Given the description of an element on the screen output the (x, y) to click on. 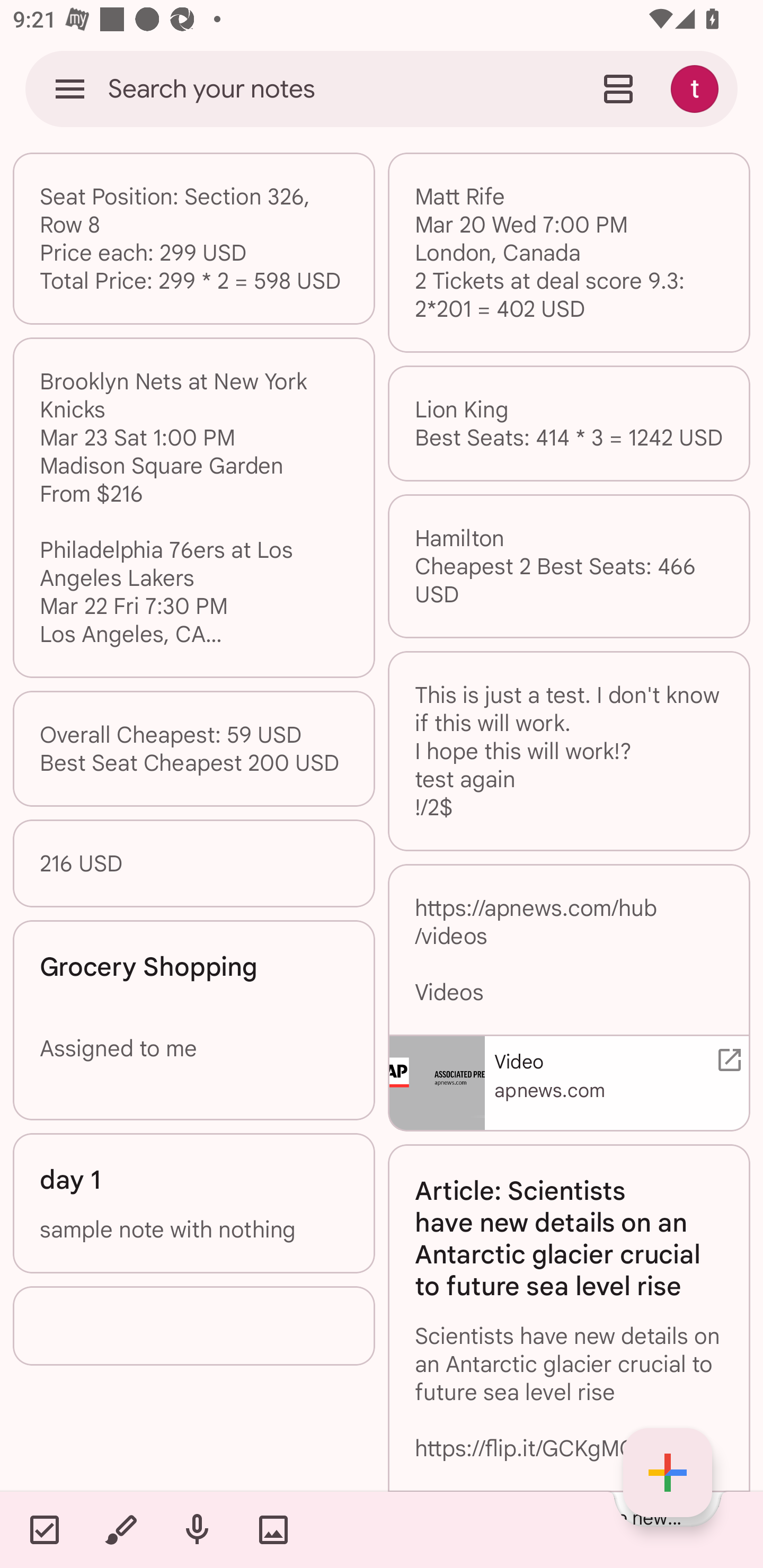
Open navigation drawer (70, 88)
Single-column view (617, 88)
Account and settings. (696, 88)
216 USD.  216 USD (193, 863)
Link preview popout (726, 1059)
.  (193, 1325)
New text note (667, 1472)
New list (44, 1529)
New drawing note (120, 1529)
New audio note (196, 1529)
New photo note (273, 1529)
